Given the description of an element on the screen output the (x, y) to click on. 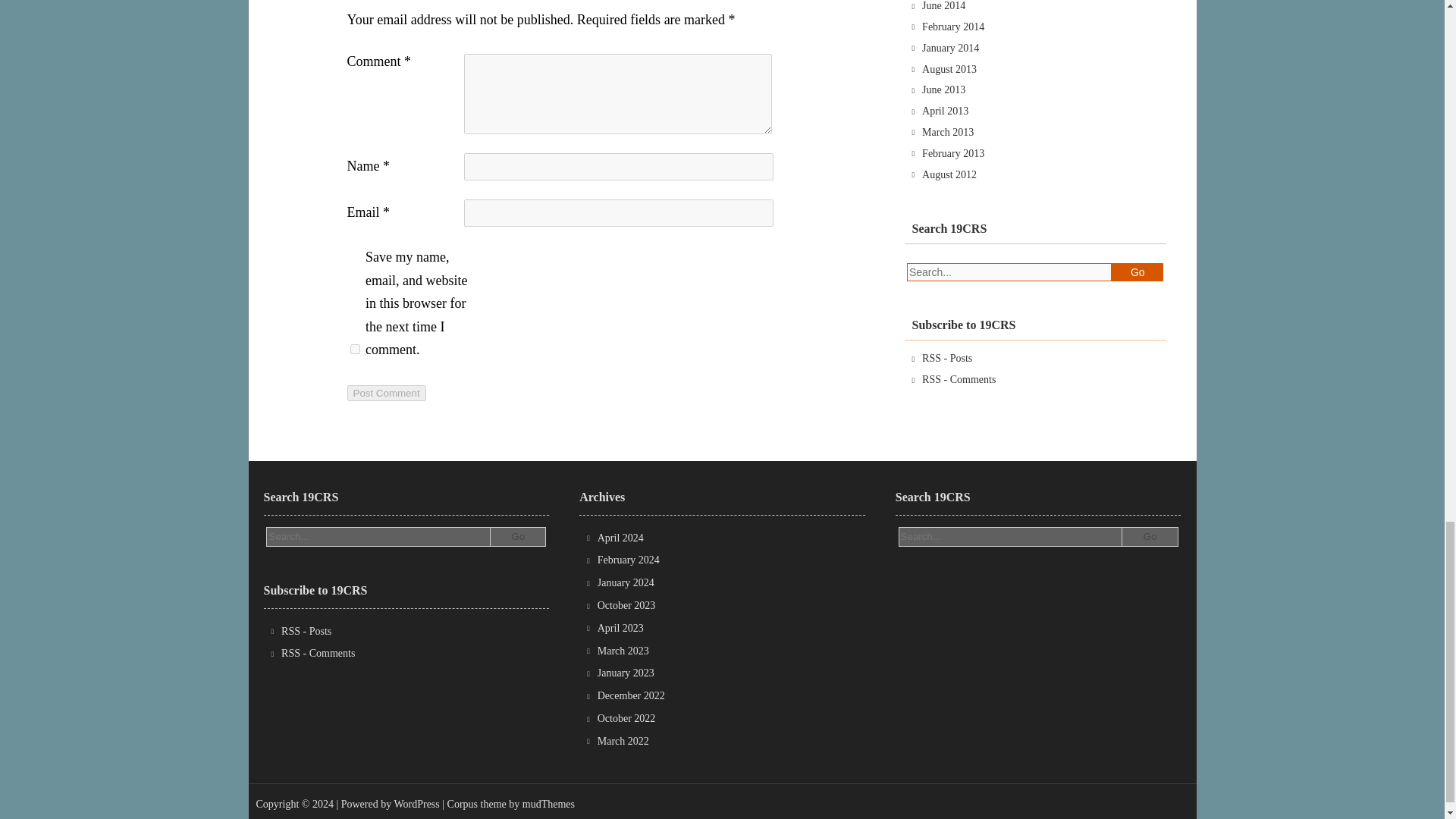
Post Comment (386, 392)
Subscribe to posts (306, 631)
Go (1148, 536)
Subscribe to comments (958, 378)
yes (354, 348)
Subscribe to posts (946, 357)
Go (1137, 271)
Go (516, 536)
Subscribe to comments (318, 653)
Post Comment (386, 392)
